Given the description of an element on the screen output the (x, y) to click on. 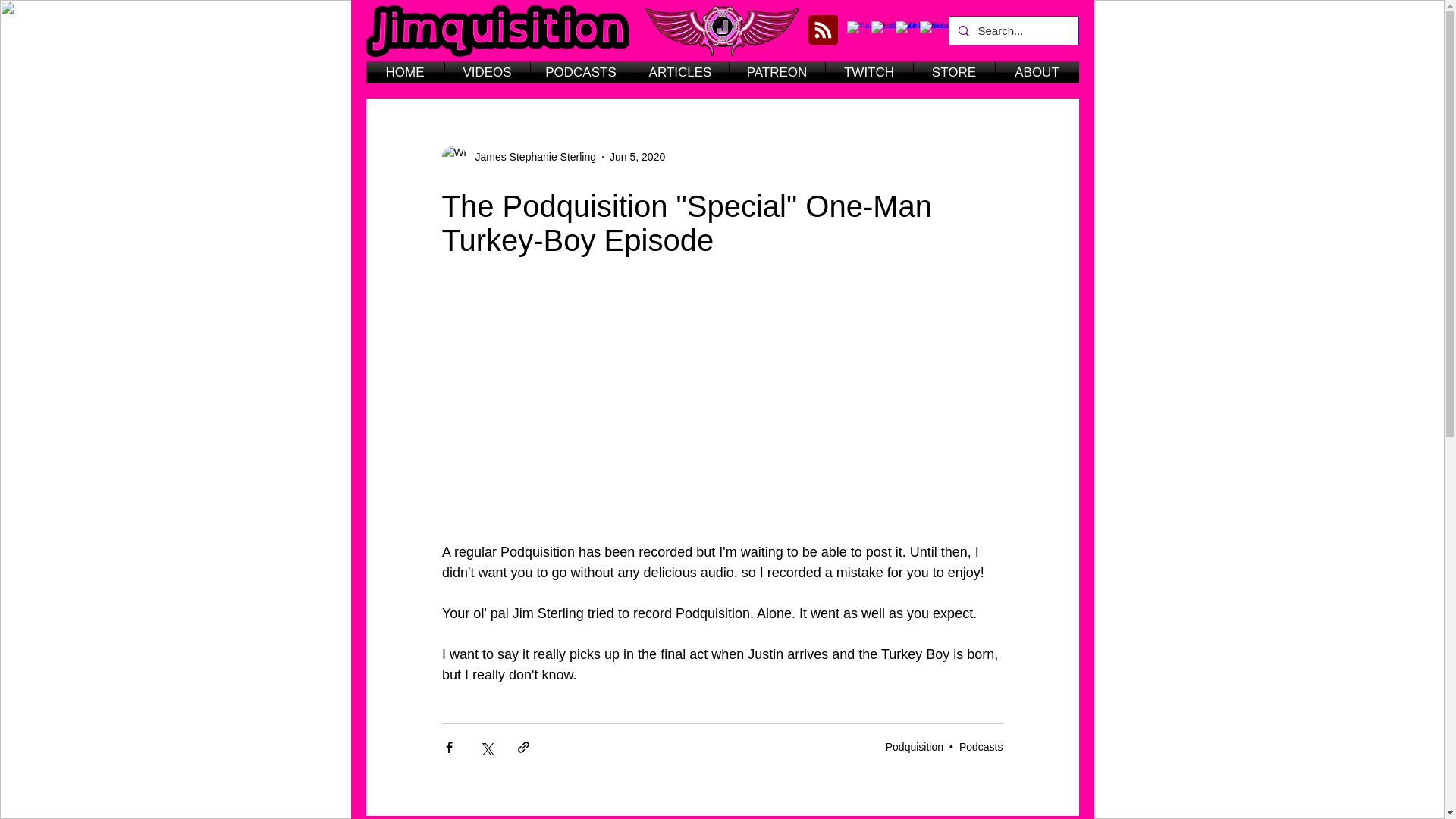
ABOUT (1036, 72)
Podquisition (914, 746)
STORE (953, 72)
PATREON (777, 72)
James Stephanie Sterling (530, 156)
PODCASTS (581, 72)
ARTICLES (680, 72)
Jun 5, 2020 (637, 155)
TWITCH (868, 72)
VIDEOS (486, 72)
